Given the description of an element on the screen output the (x, y) to click on. 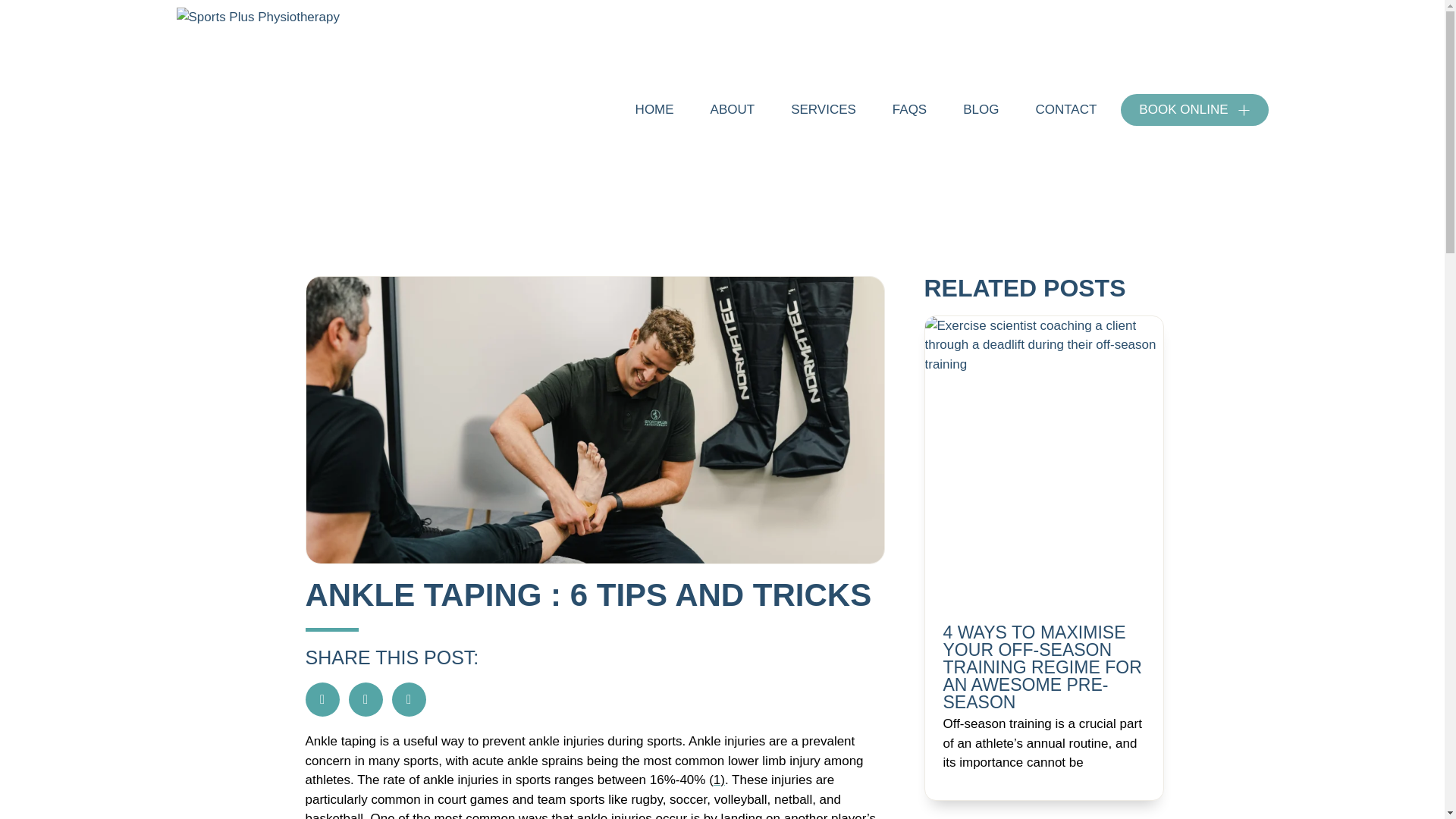
FAQS (909, 109)
ABOUT (732, 109)
HOME (654, 109)
SERVICES (822, 109)
BLOG (980, 109)
CONTACT (1065, 109)
